Given the description of an element on the screen output the (x, y) to click on. 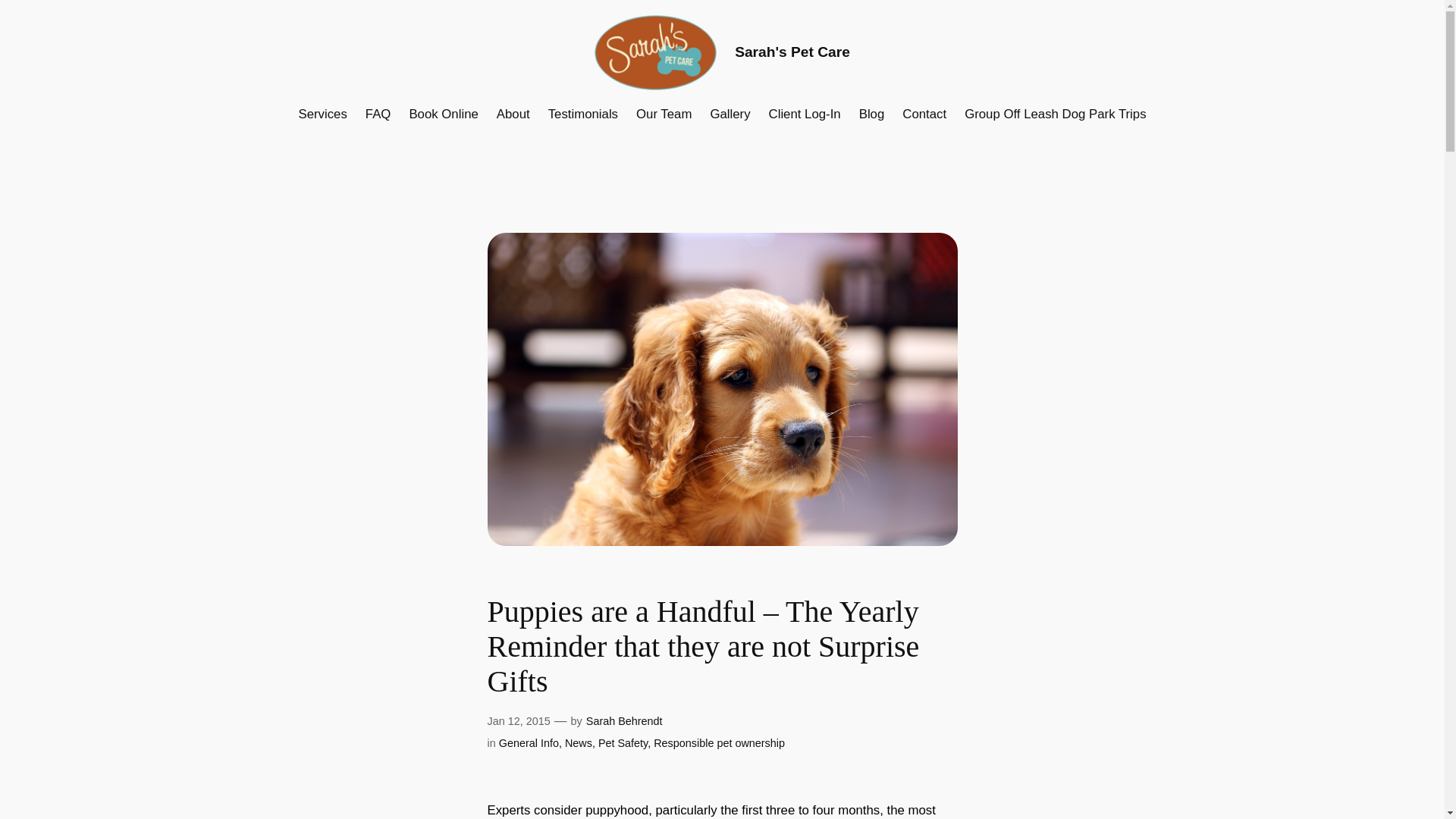
Sarah Behrendt (624, 720)
Our Team (663, 114)
Blog (872, 114)
Gallery (729, 114)
Pet Safety (622, 743)
Services (322, 114)
News (578, 743)
General Info (529, 743)
Client Log-In (804, 114)
Book Online (443, 114)
